Given the description of an element on the screen output the (x, y) to click on. 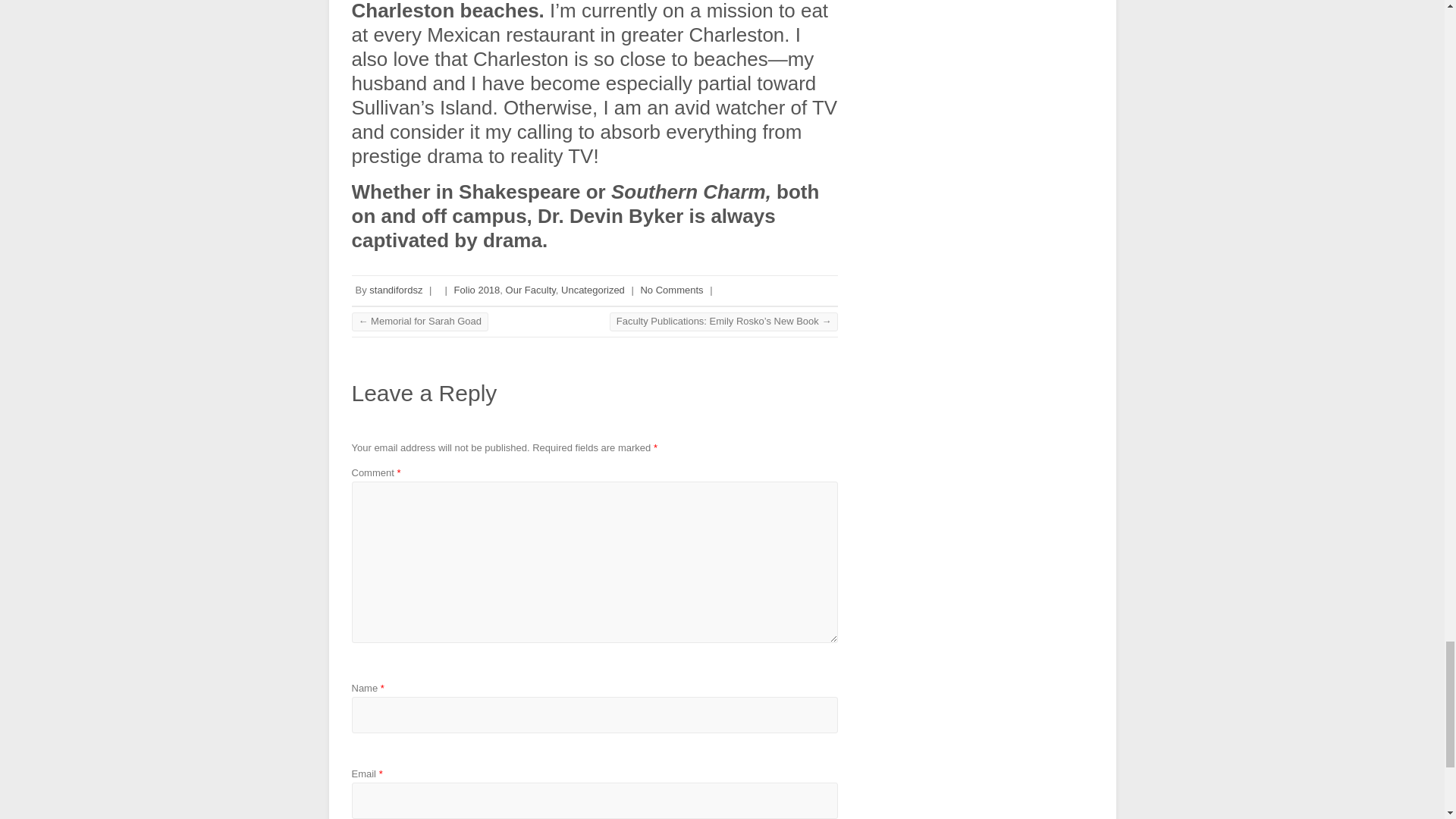
standifordsz (395, 289)
Uncategorized (592, 289)
No Comments (671, 289)
Folio 2018 (477, 289)
Our Faculty (530, 289)
